Given the description of an element on the screen output the (x, y) to click on. 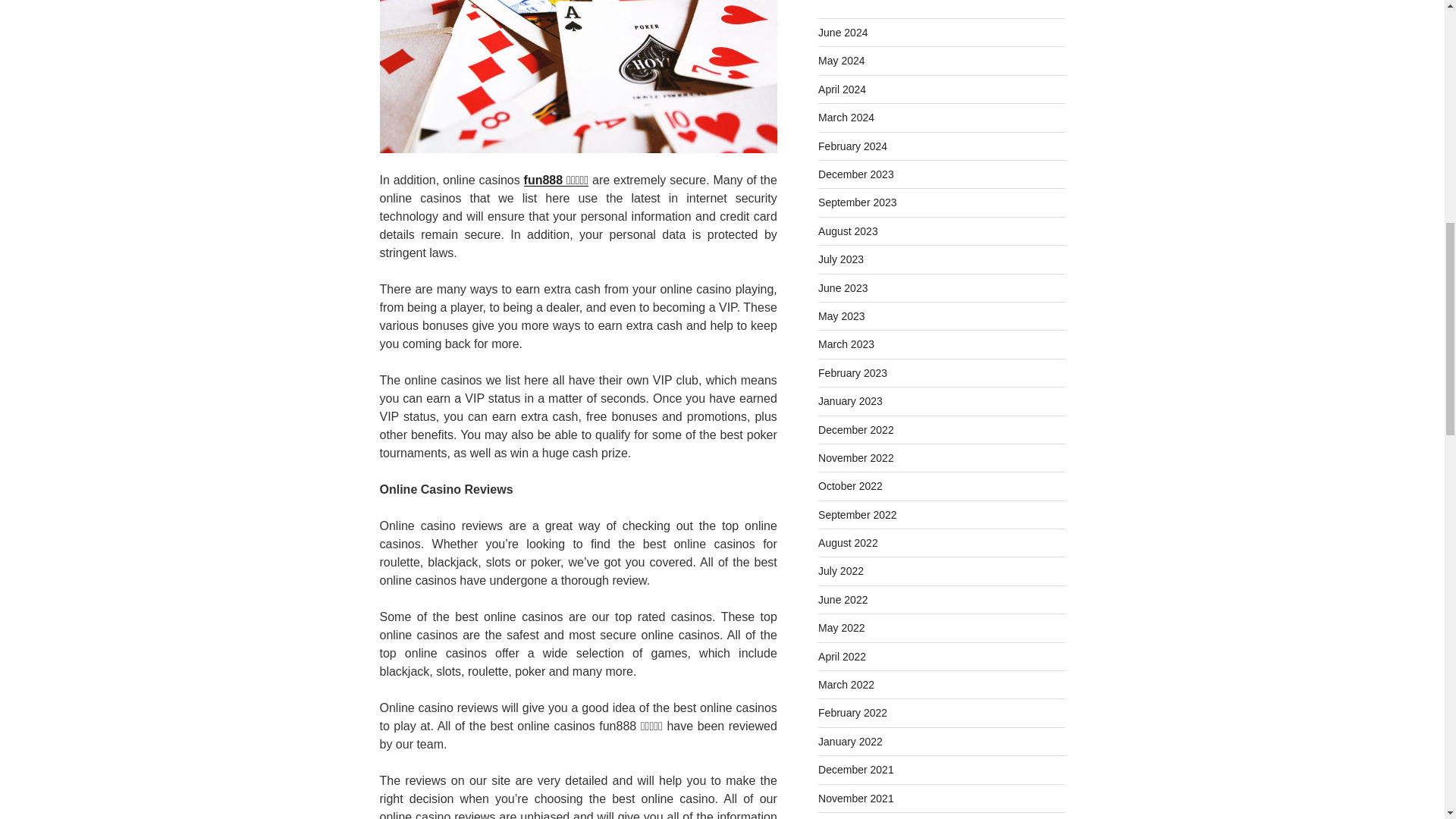
June 2023 (842, 287)
April 2024 (842, 89)
February 2024 (852, 146)
July 2022 (840, 571)
June 2022 (842, 599)
August 2022 (847, 542)
August 2023 (847, 231)
October 2022 (850, 485)
March 2024 (846, 117)
January 2023 (850, 400)
